Given the description of an element on the screen output the (x, y) to click on. 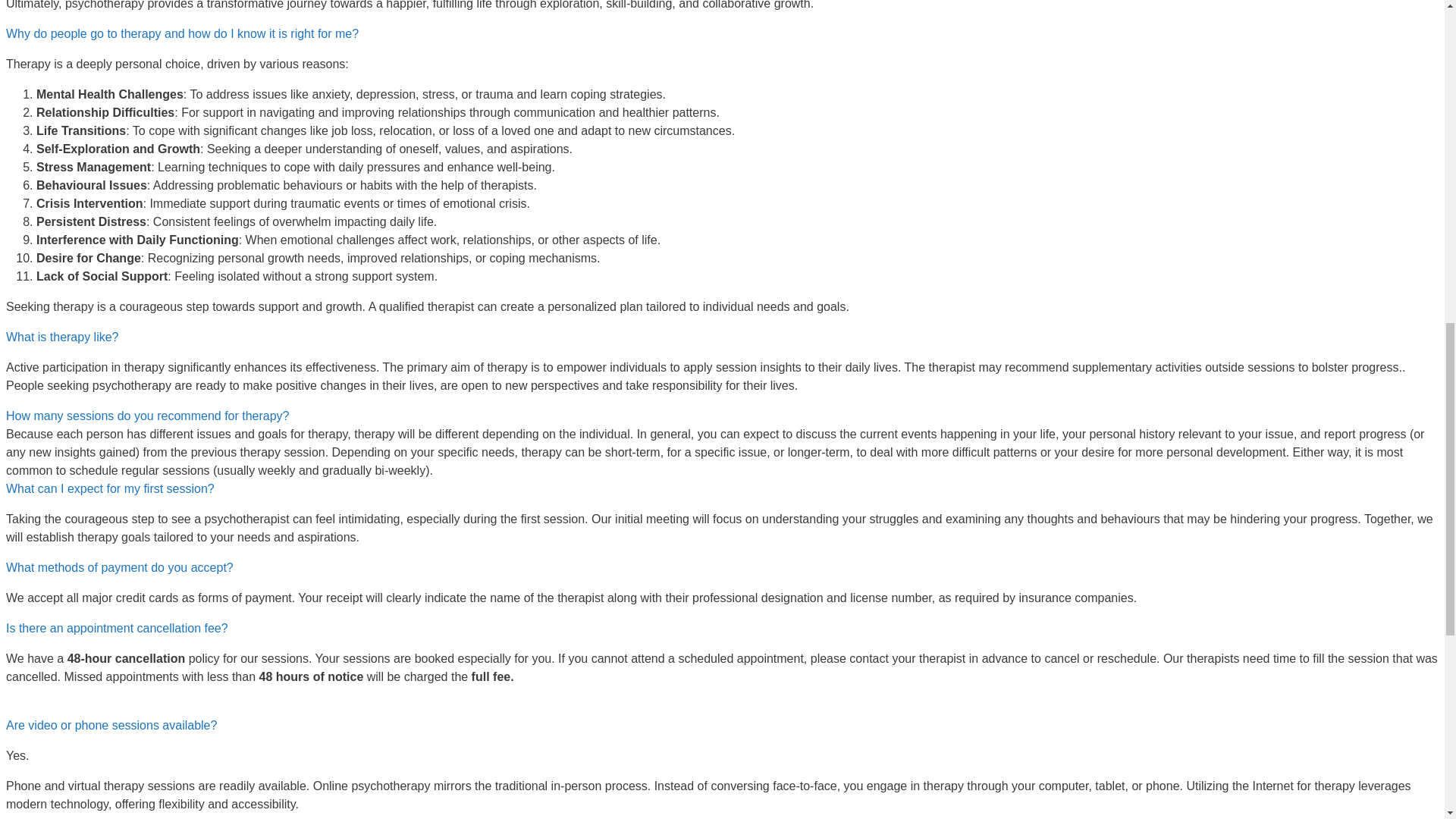
How many sessions do you recommend for therapy? (147, 415)
Are video or phone sessions available? (110, 725)
What is therapy like? (62, 336)
Scroll back to top (1406, 720)
Is there an appointment cancellation fee? (116, 627)
What methods of payment do you accept? (118, 567)
What can I expect for my first session? (109, 488)
